Given the description of an element on the screen output the (x, y) to click on. 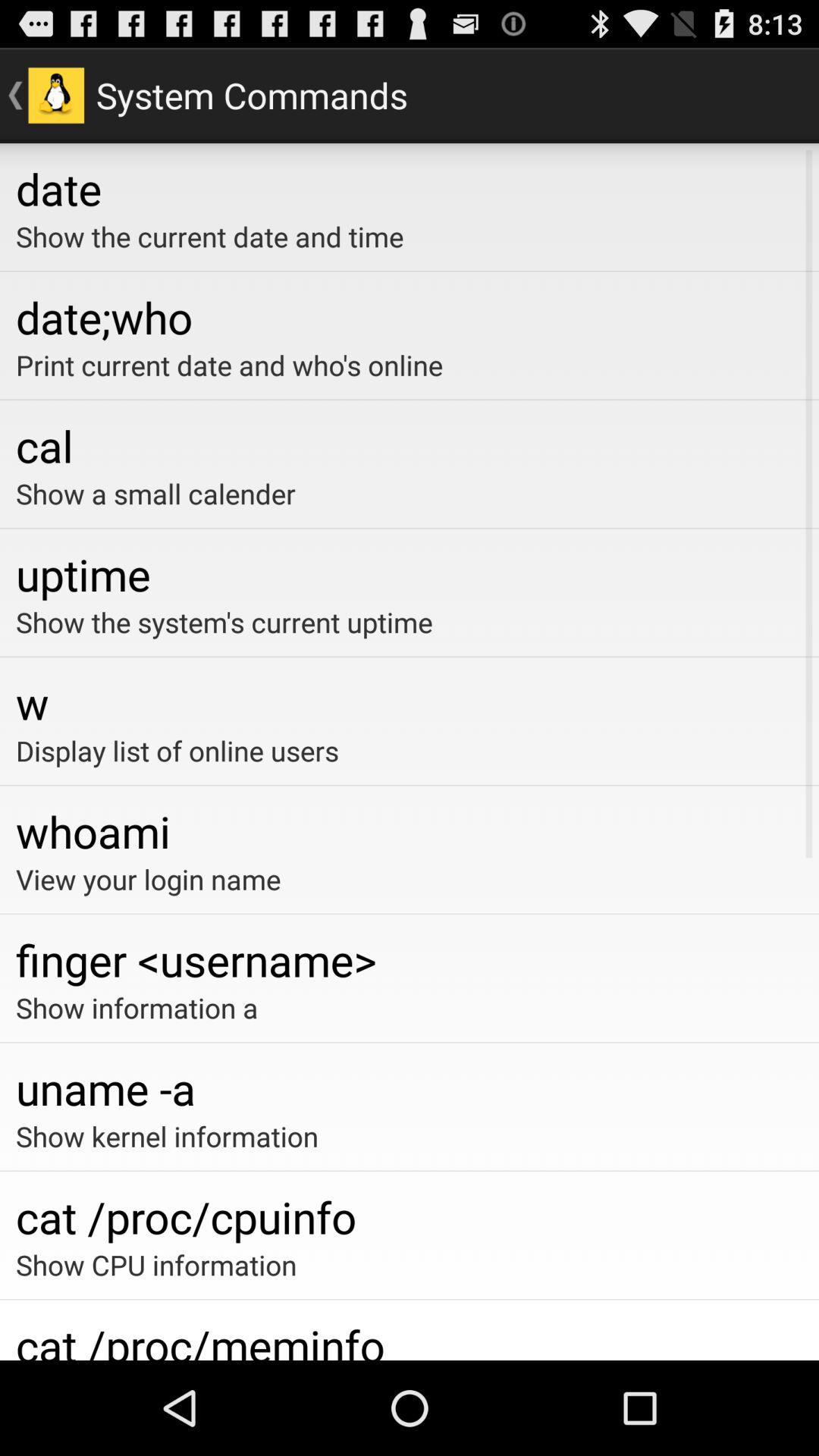
choose the app above finger <username> app (409, 879)
